Given the description of an element on the screen output the (x, y) to click on. 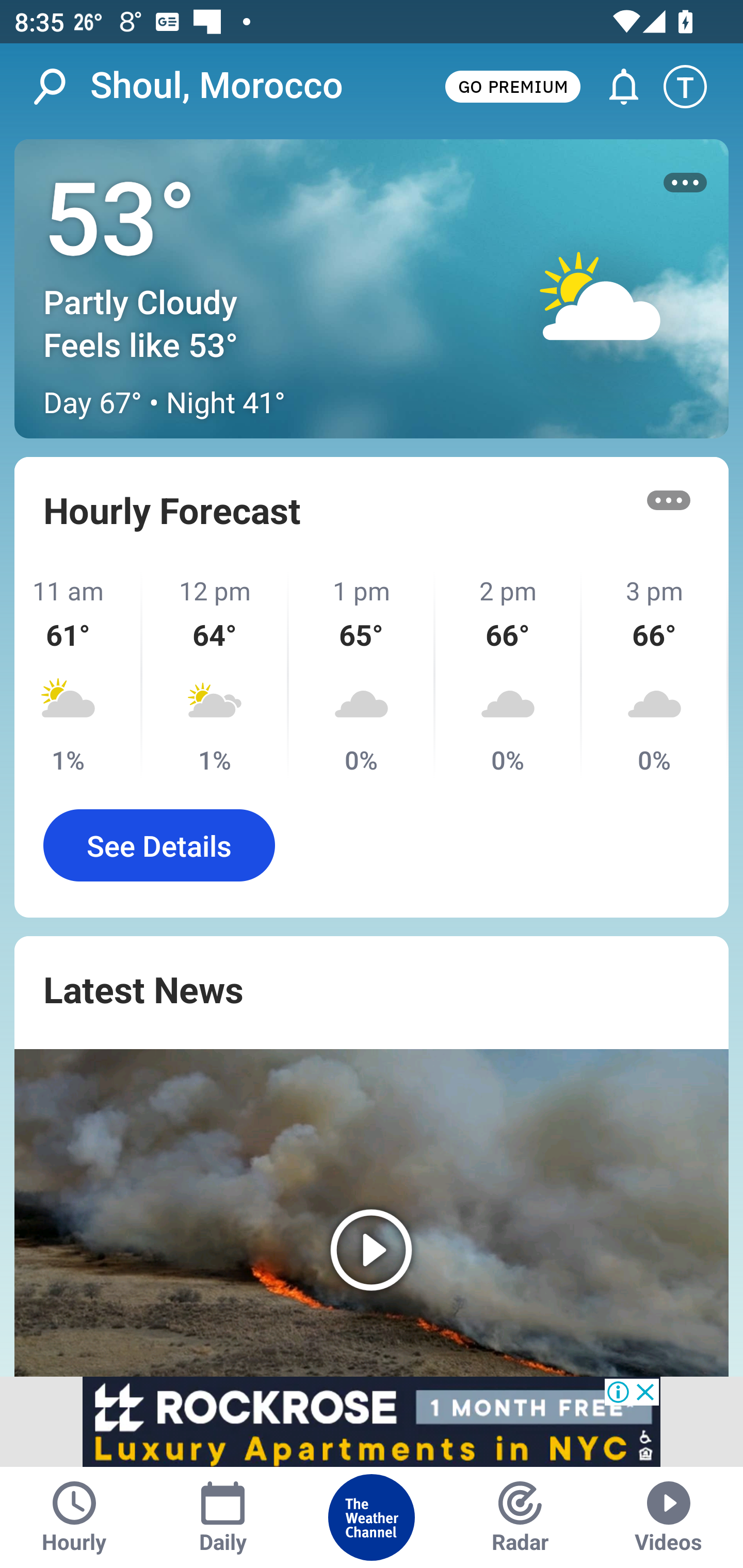
Search (59, 86)
Go to Alerts and Notifications (614, 86)
Setting icon T (694, 86)
Shoul, Morocco (216, 85)
GO PREMIUM (512, 85)
More options (684, 182)
More options (668, 500)
11 am 61° 1% (78, 674)
12 pm 64° 1% (215, 674)
1 pm 65° 0% (362, 674)
2 pm 66° 0% (508, 674)
3 pm 66° 0% (654, 674)
See Details (158, 845)
Play (371, 1212)
Hourly Tab Hourly (74, 1517)
Daily Tab Daily (222, 1517)
Radar Tab Radar (519, 1517)
Videos Tab Videos (668, 1517)
